Given the description of an element on the screen output the (x, y) to click on. 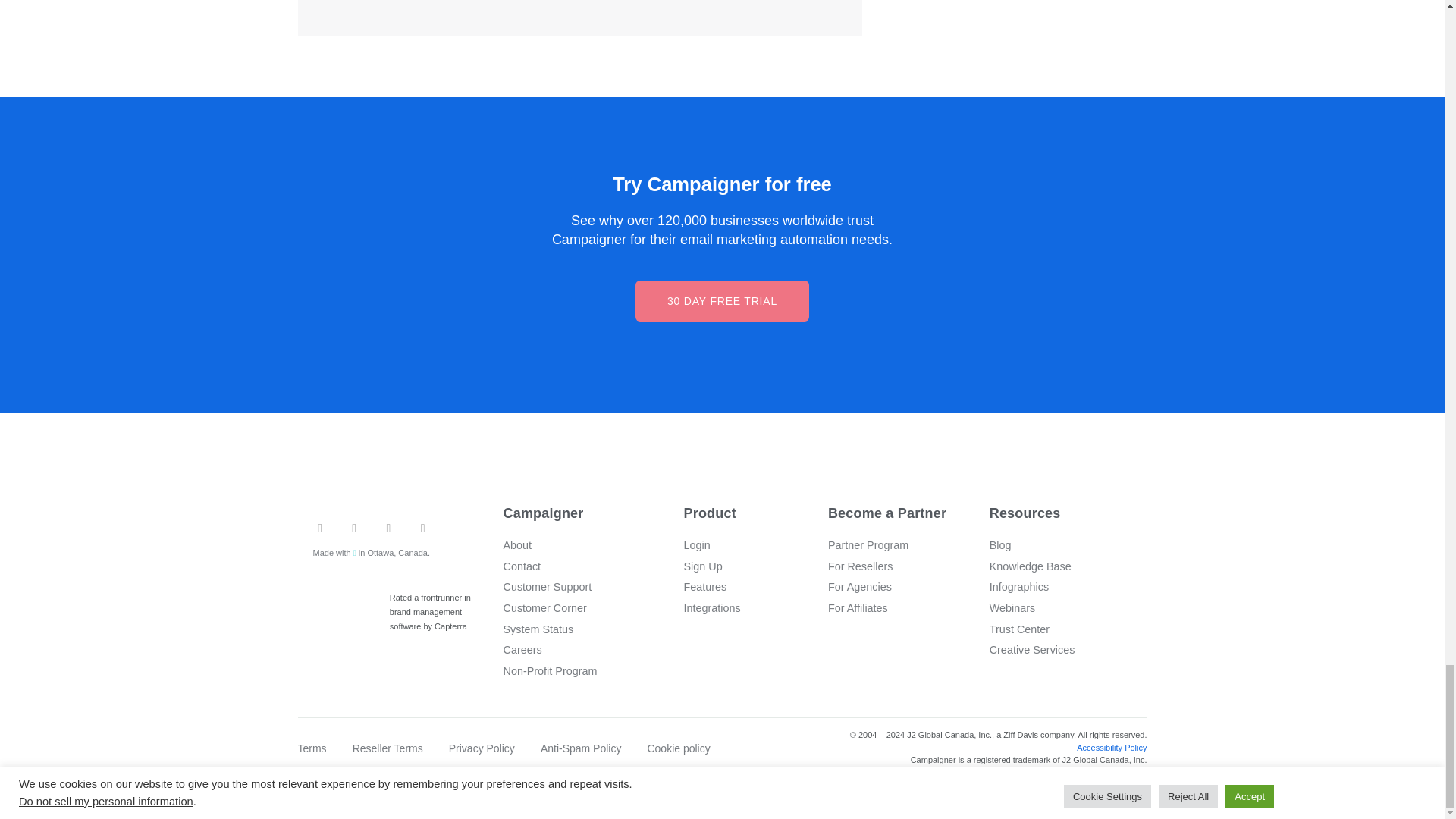
Twitter - opens a new tab (319, 528)
Instagram - opens a new tab (388, 528)
LinkedIn - opens a new tab (421, 528)
Facebook - opens a new tab (354, 528)
